Given the description of an element on the screen output the (x, y) to click on. 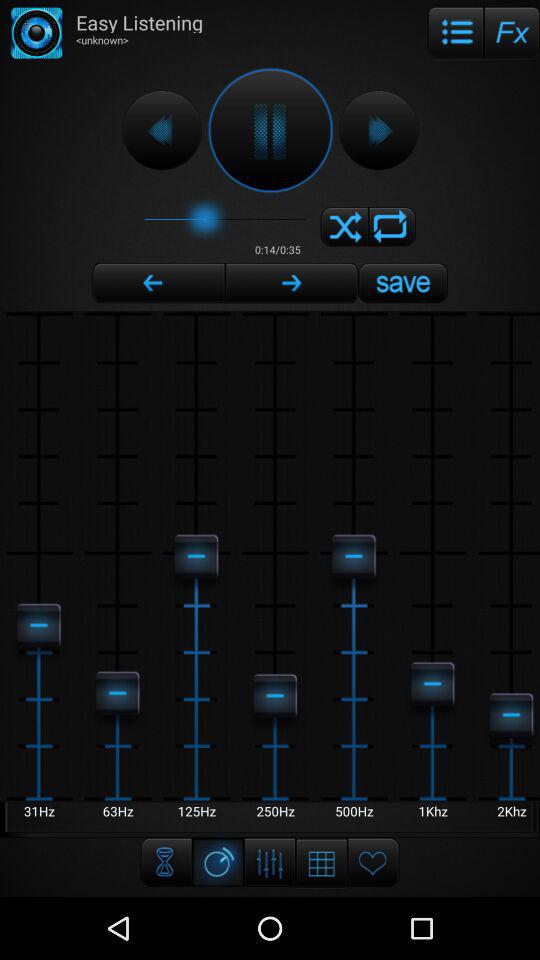
tap icon to the right of easy listening item (456, 32)
